Given the description of an element on the screen output the (x, y) to click on. 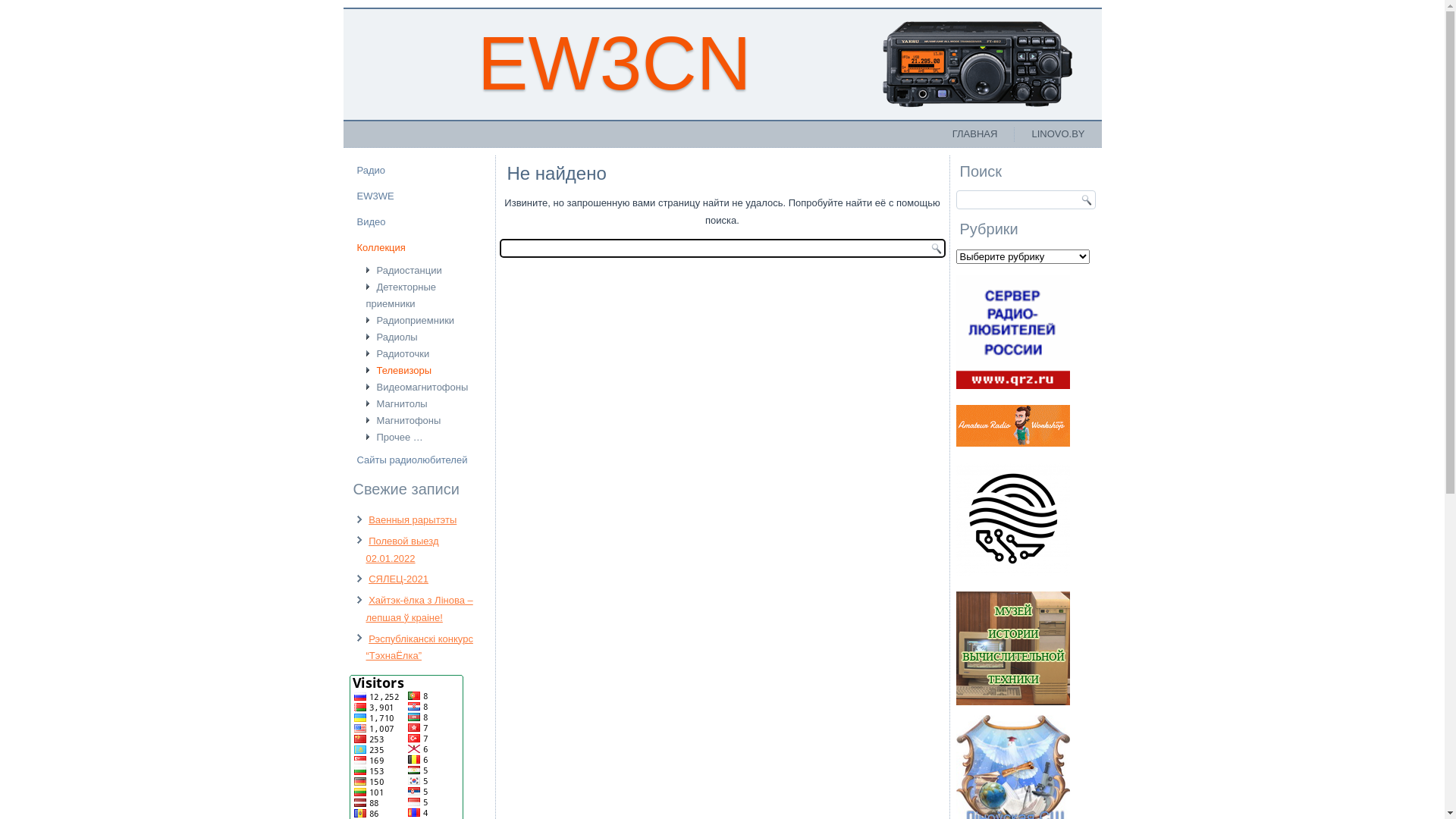
LINOVO.BY Element type: text (1057, 134)
EW3WE Element type: text (418, 196)
EW3CN Element type: text (614, 62)
